Given the description of an element on the screen output the (x, y) to click on. 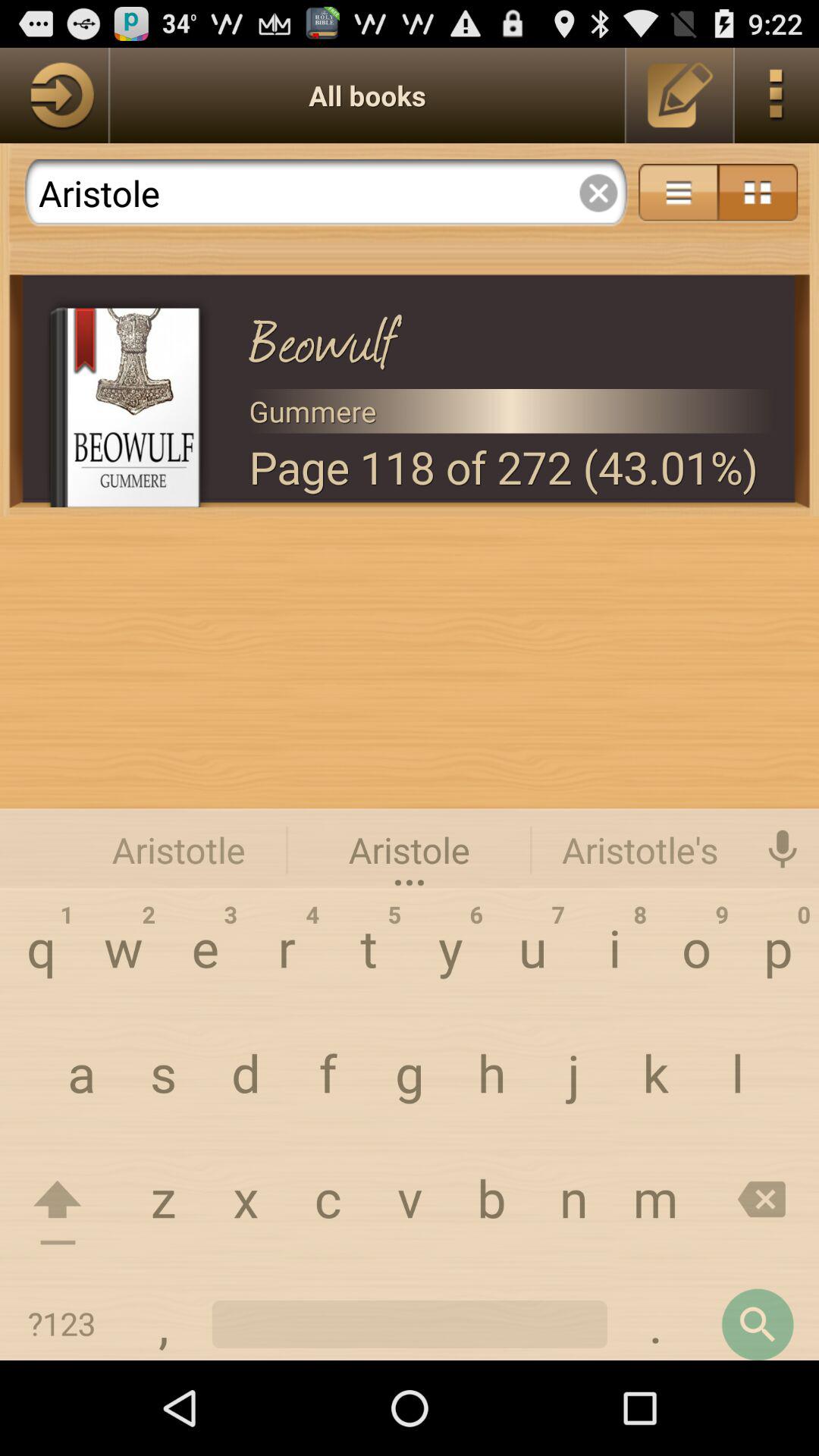
edit switch (680, 95)
